Given the description of an element on the screen output the (x, y) to click on. 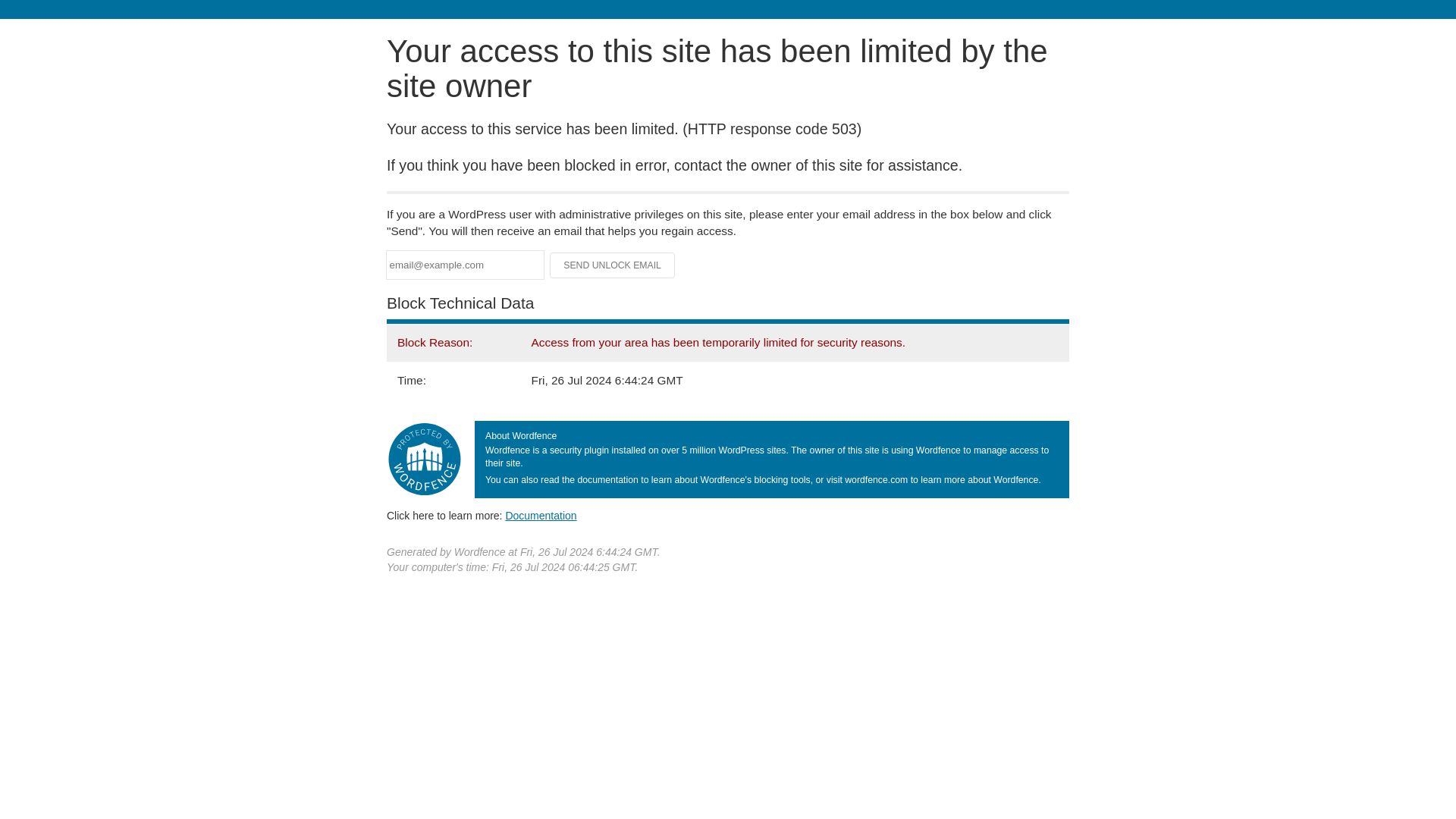
Send Unlock Email (612, 265)
Documentation (540, 515)
Send Unlock Email (612, 265)
